Given the description of an element on the screen output the (x, y) to click on. 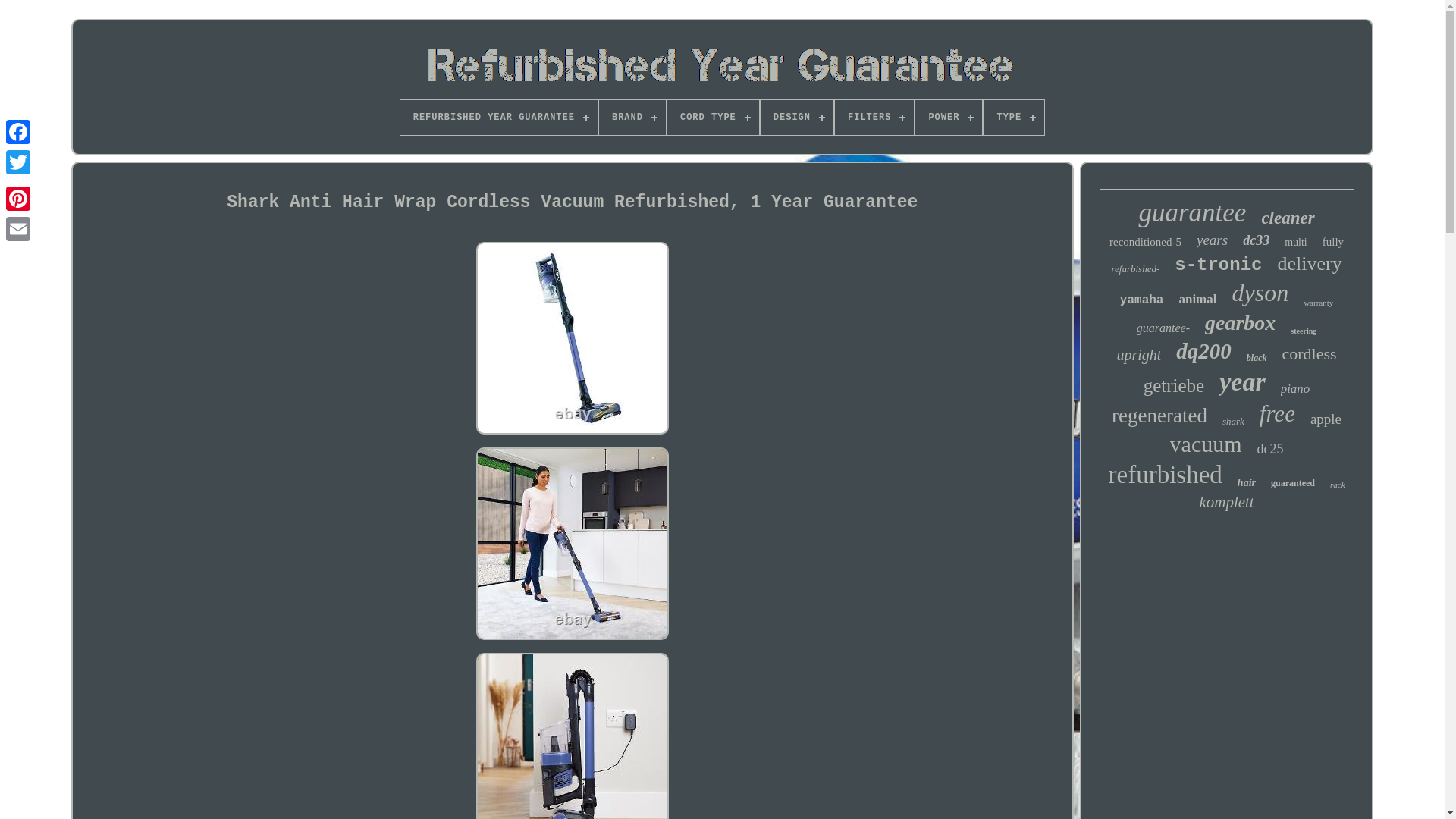
CORD TYPE (712, 117)
Pinterest (17, 198)
Facebook (17, 132)
DESIGN (796, 117)
BRAND (631, 117)
REFURBISHED YEAR GUARANTEE (498, 117)
